Given the description of an element on the screen output the (x, y) to click on. 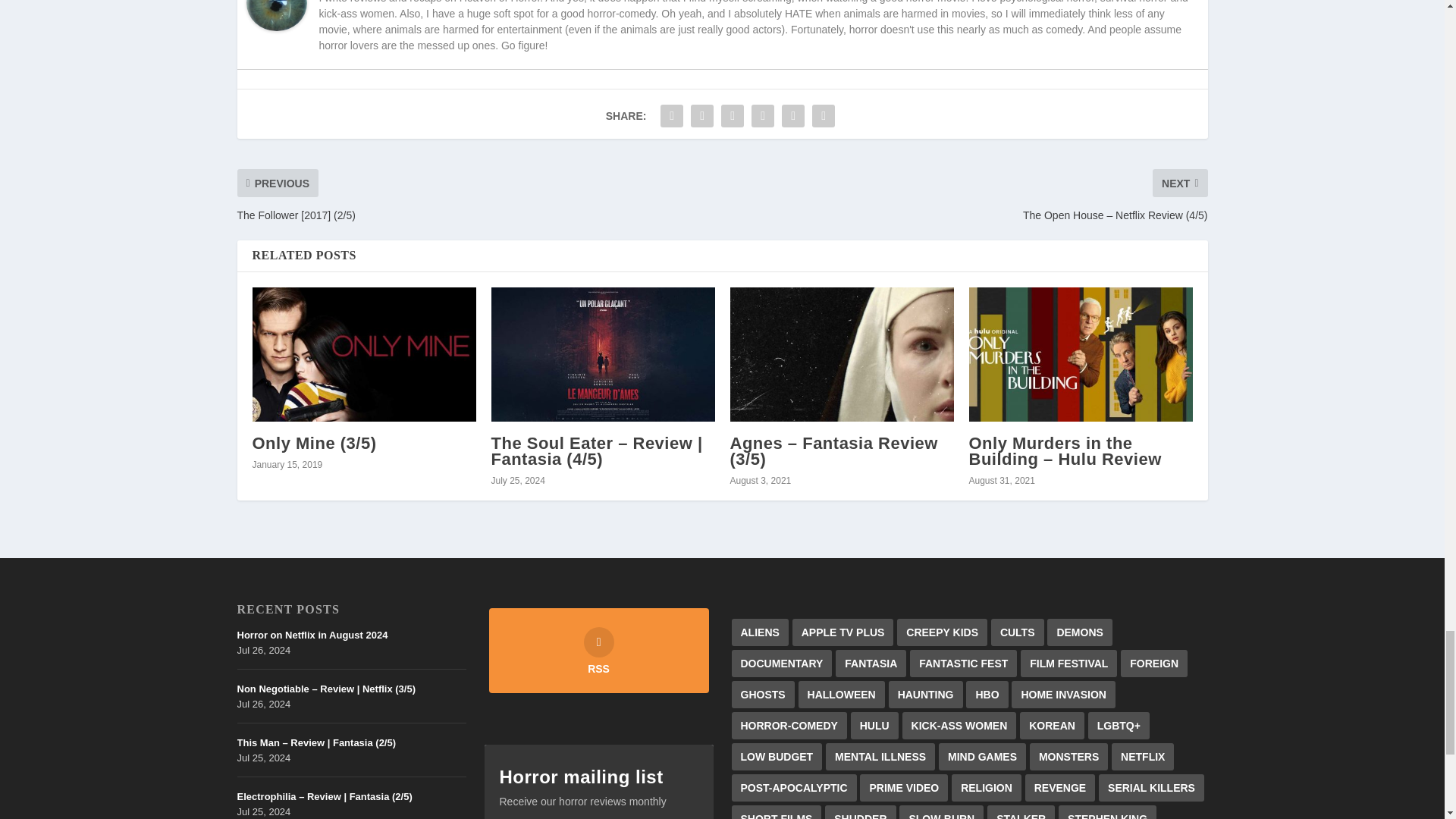
Karina "ScreamQueen" Adelgaard (275, 27)
